Given the description of an element on the screen output the (x, y) to click on. 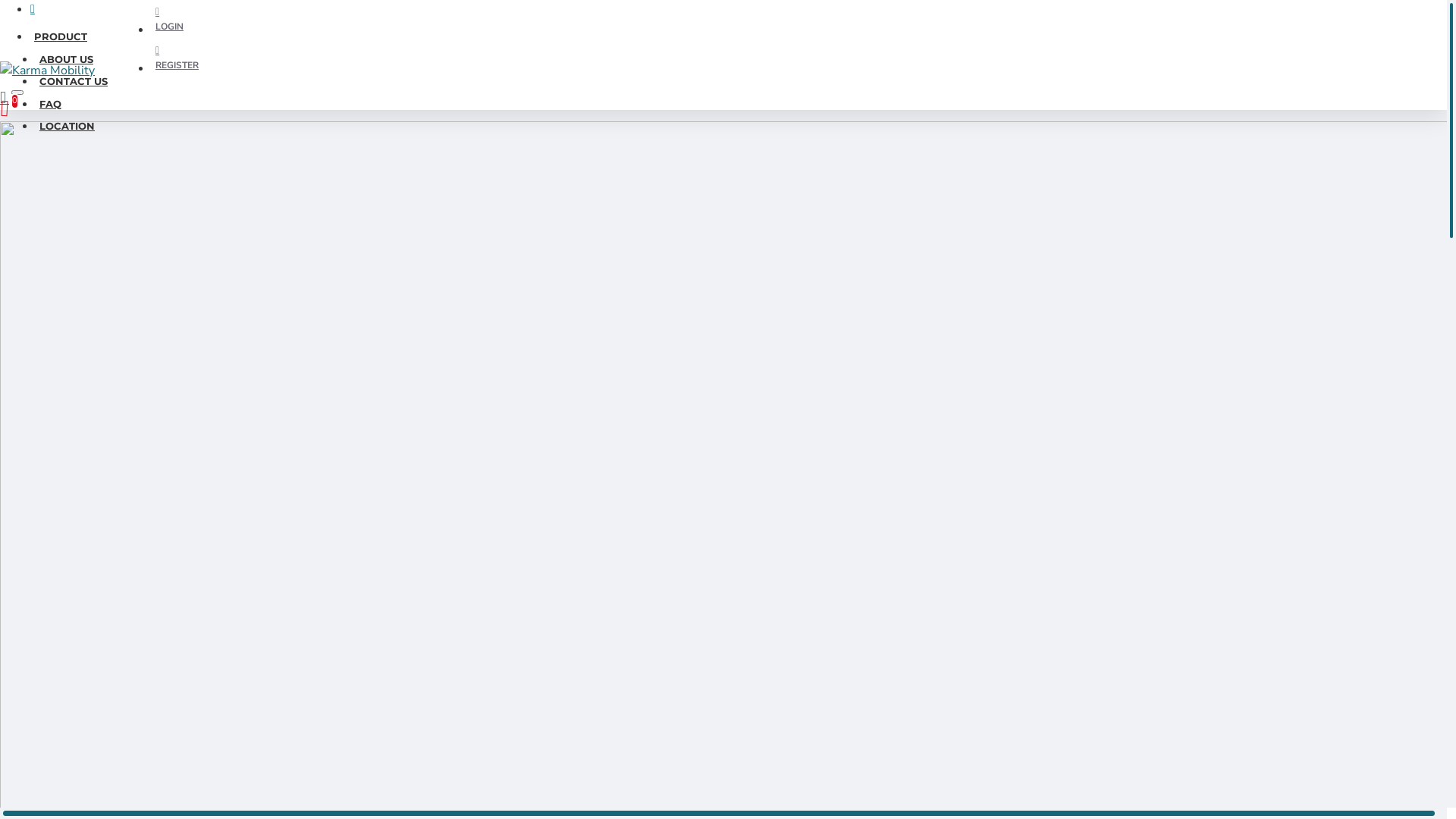
PRODUCT Element type: text (60, 36)
CONTACT US Element type: text (73, 81)
0 Element type: text (15, 96)
LOGIN Element type: text (169, 18)
Karma Mobility Element type: hover (47, 70)
FAQ Element type: text (50, 103)
ABOUT US Element type: text (66, 59)
LOCATION Element type: text (66, 126)
REGISTER Element type: text (176, 56)
